Given the description of an element on the screen output the (x, y) to click on. 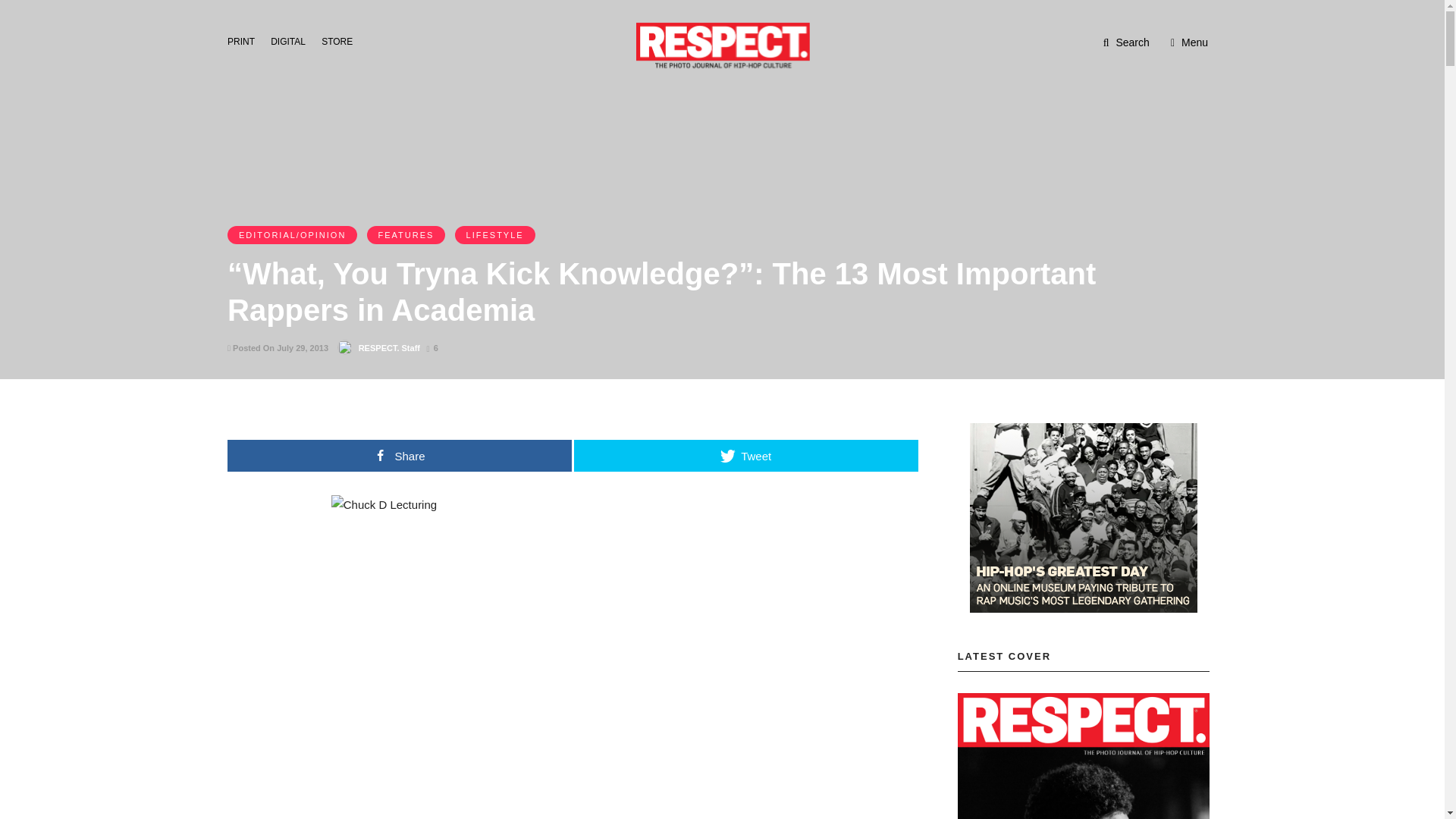
Menu (1189, 41)
PRINT (245, 40)
FEATURES (405, 235)
STORE (341, 40)
DIGITAL (292, 40)
Search (1126, 41)
